Given the description of an element on the screen output the (x, y) to click on. 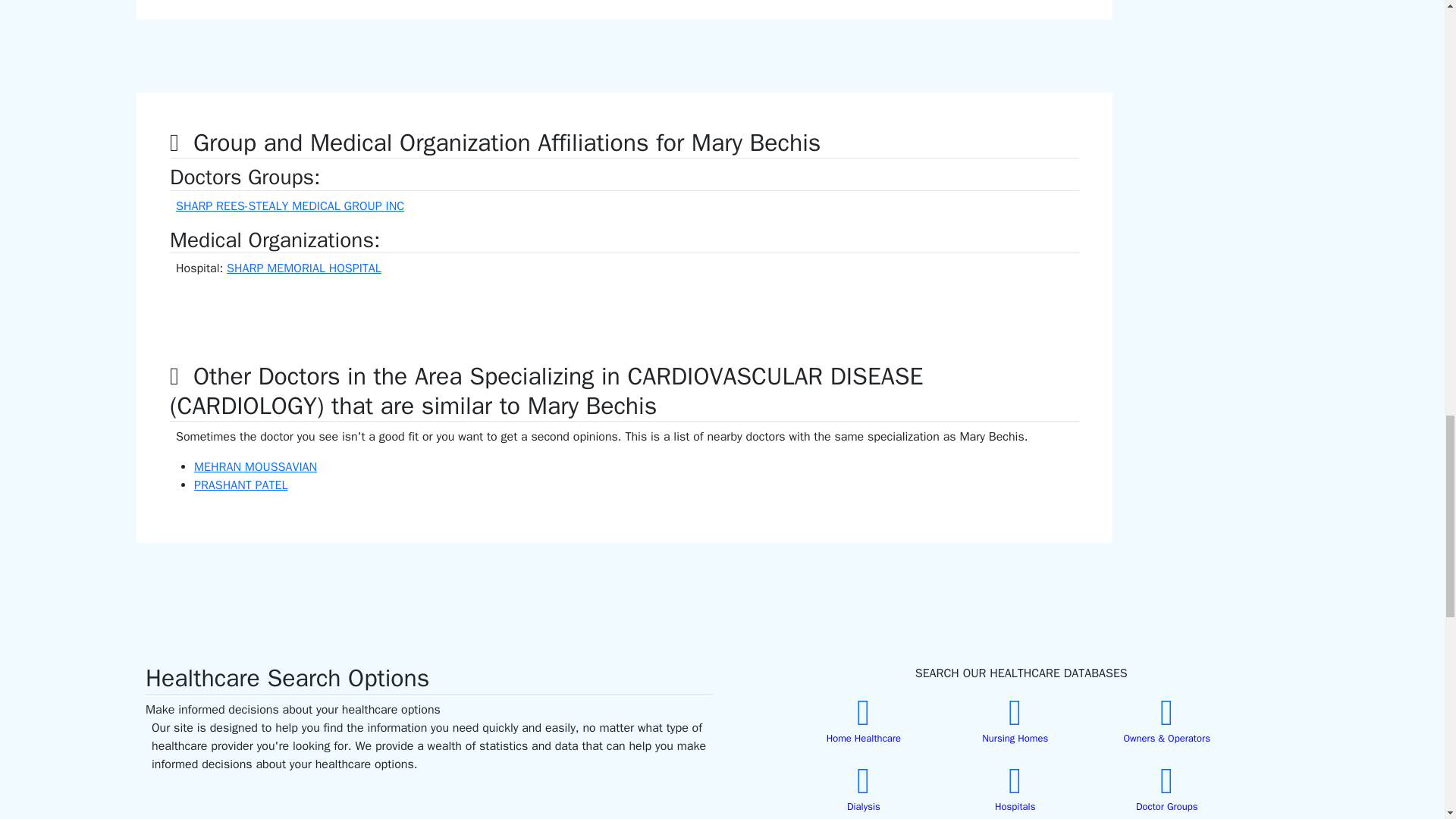
SHARP REES-STEALY MEDICAL GROUP INC (290, 206)
MEHRAN MOUSSAVIAN (255, 467)
PRASHANT PATEL (239, 485)
SHARP MEMORIAL HOSPITAL (304, 268)
